Given the description of an element on the screen output the (x, y) to click on. 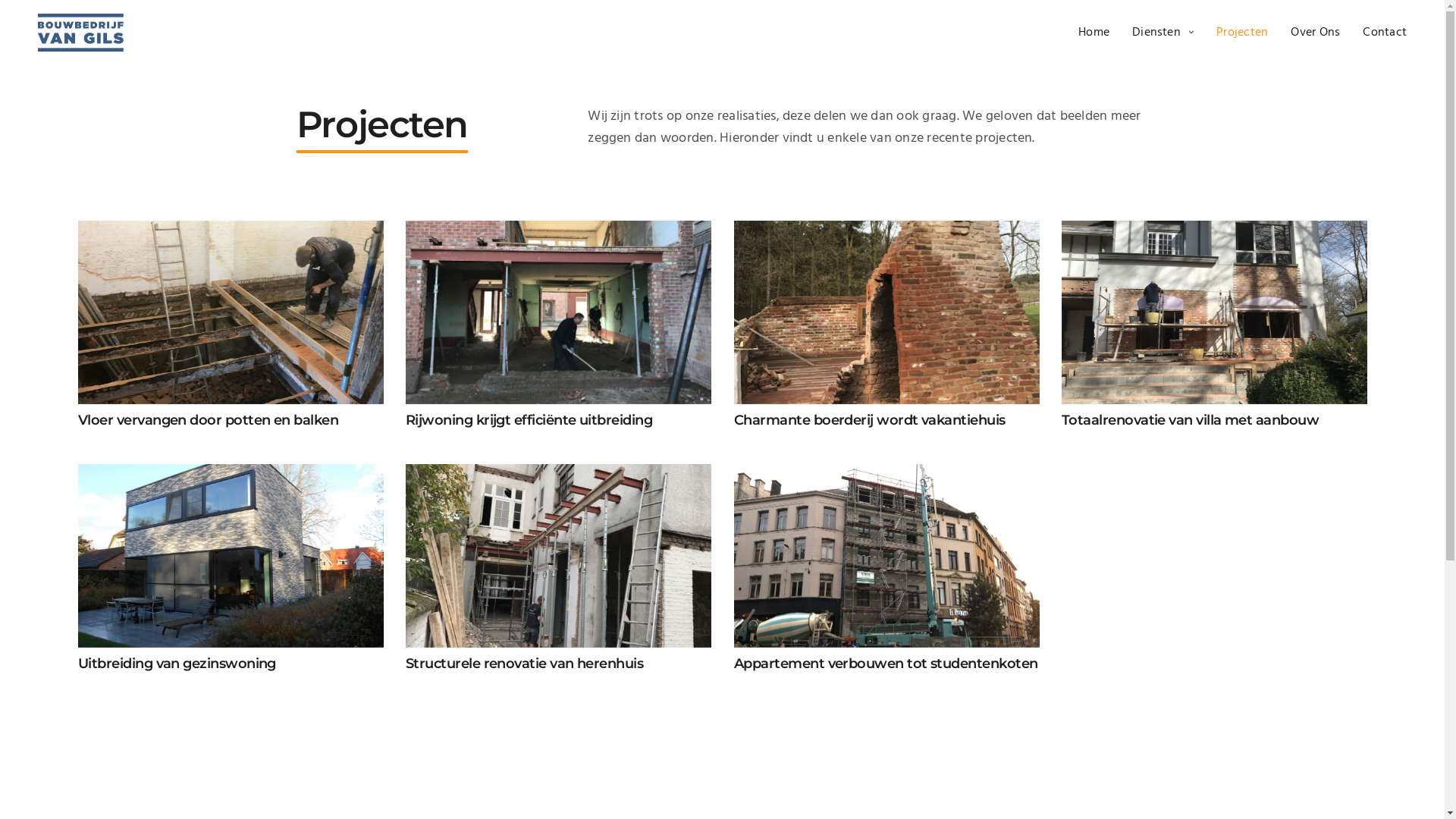
Totaalrenovatie van villa met aanbouw Element type: text (1213, 342)
Bouwbedrijf Van Gils Element type: hover (80, 32)
Diensten Element type: text (1162, 32)
Over Ons Element type: text (1314, 32)
Vloer vervangen door potten en balken Element type: text (230, 342)
Charmante boerderij wordt vakantiehuis Element type: text (885, 342)
Search Element type: text (48, 18)
Uitbreiding van gezinswoning Element type: text (230, 586)
Structurele renovatie van herenhuis Element type: text (558, 586)
Home Element type: text (1093, 32)
Projecten Element type: text (1241, 32)
Contact Element type: text (1384, 32)
Appartement verbouwen tot studentenkoten Element type: text (885, 586)
